Given the description of an element on the screen output the (x, y) to click on. 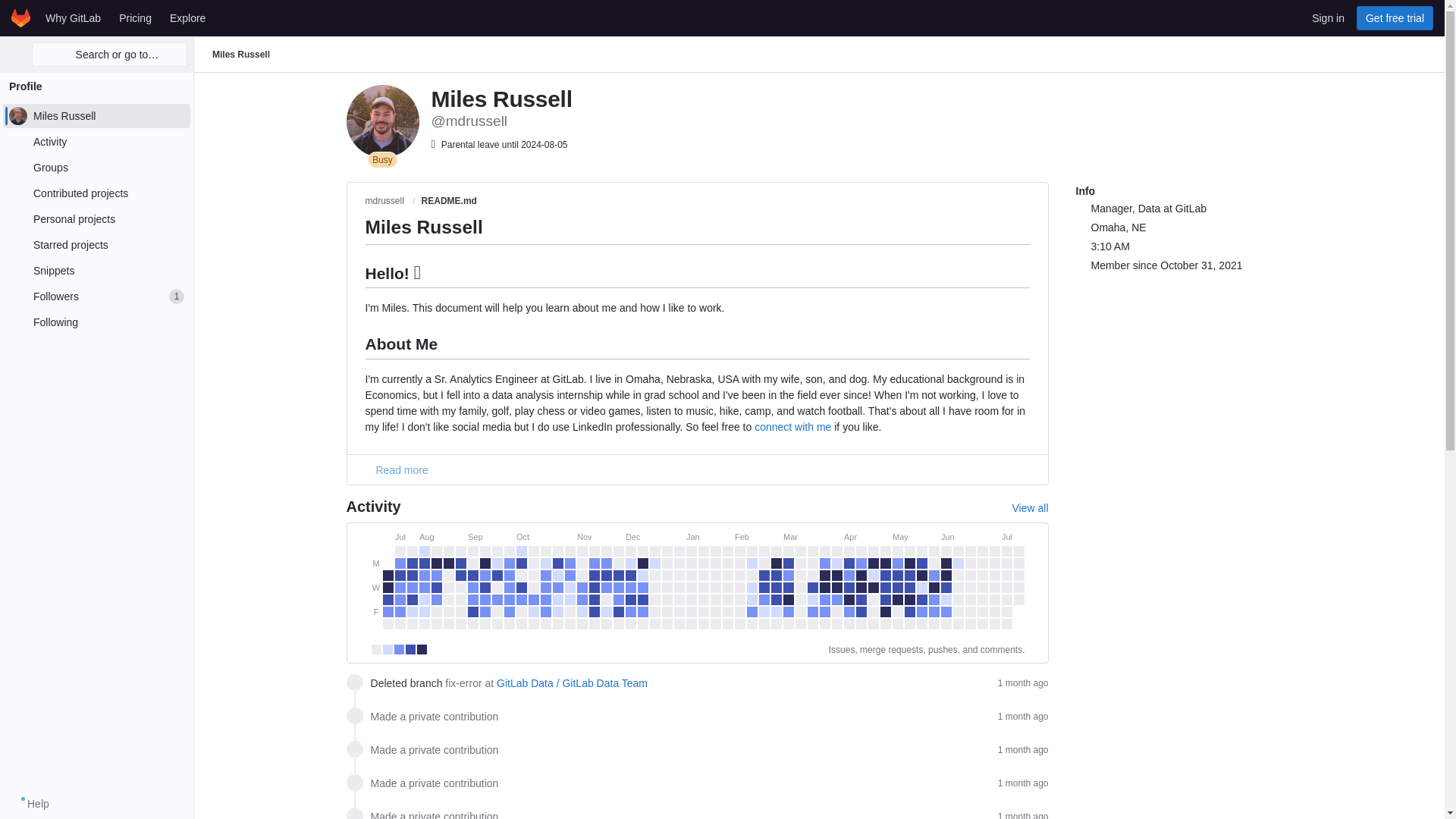
Sign in (1328, 17)
Personal projects (96, 218)
Snippets (96, 296)
View large avatar (96, 270)
Pricing (382, 120)
Starred projects (135, 17)
Get free trial (96, 244)
Help (1394, 17)
Explore (30, 803)
Contributed projects (187, 17)
Miles Russell (96, 192)
Following (96, 115)
Activity (96, 322)
Homepage (96, 141)
